Given the description of an element on the screen output the (x, y) to click on. 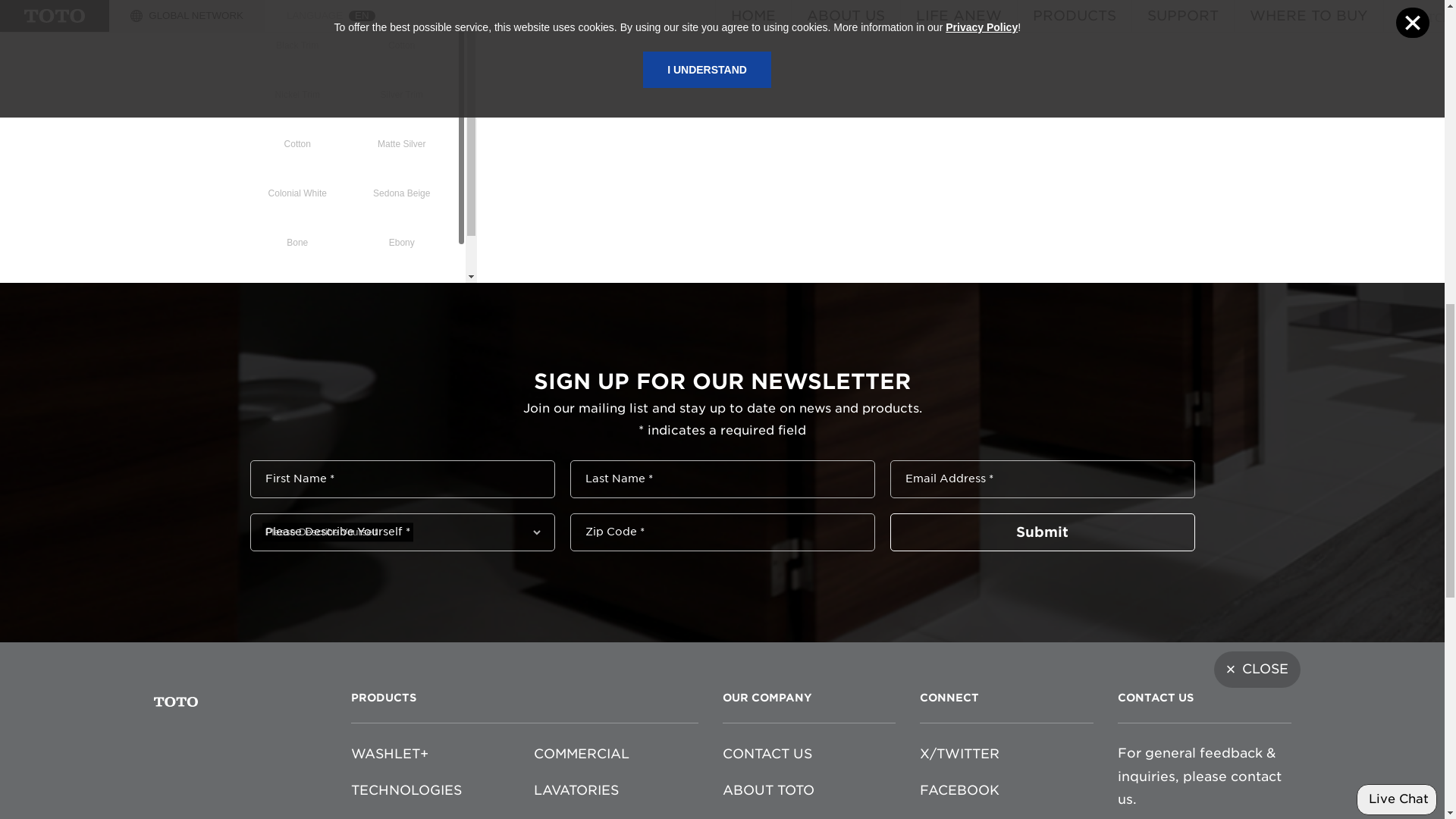
No Color (297, 277)
Colonial White (297, 178)
Nickel Trim (297, 79)
Silver Trim (401, 79)
Matte Silver (400, 128)
Sedona Beige (400, 178)
Black Trim (296, 30)
